Given the description of an element on the screen output the (x, y) to click on. 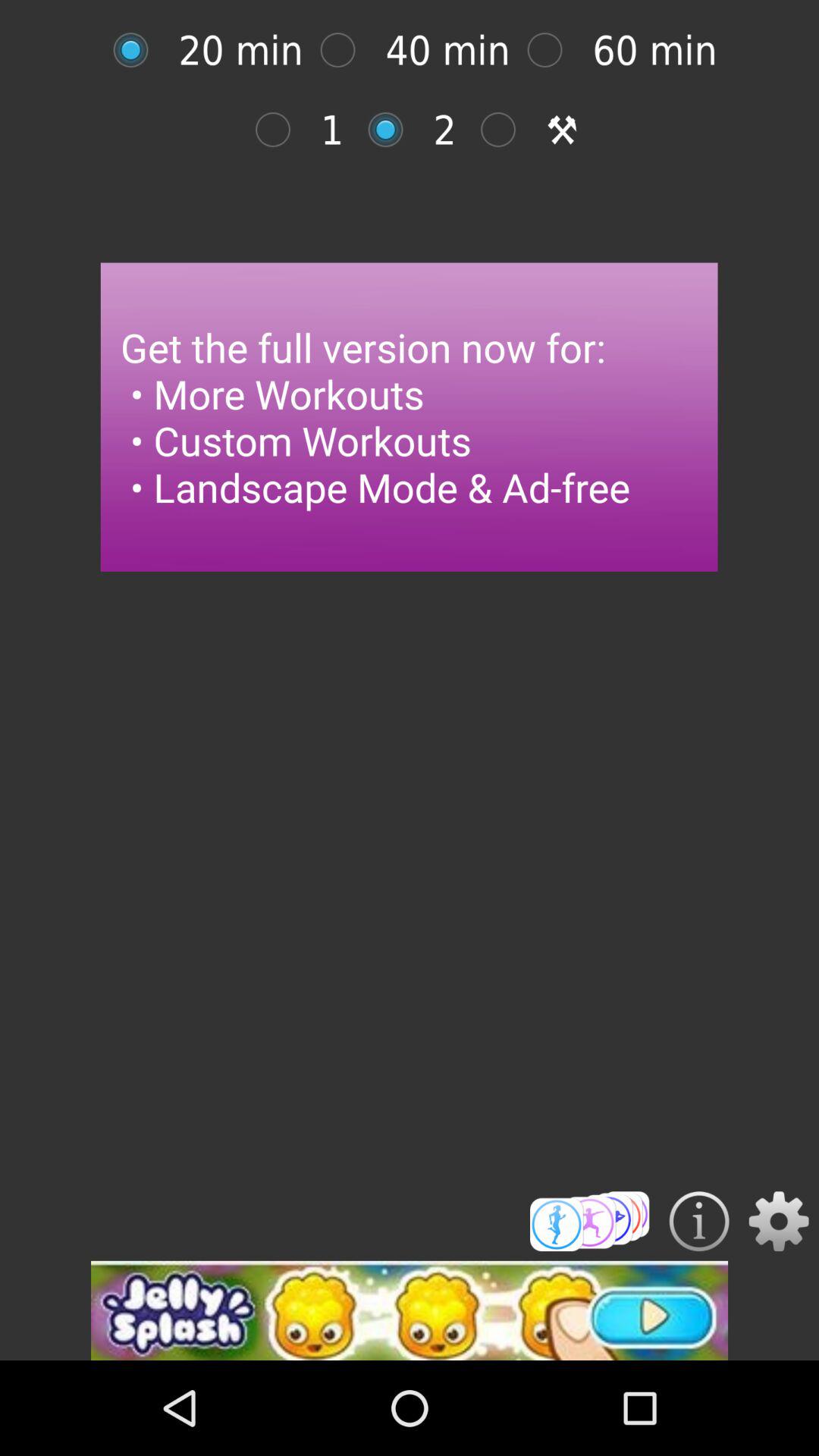
get the app (589, 1221)
